Given the description of an element on the screen output the (x, y) to click on. 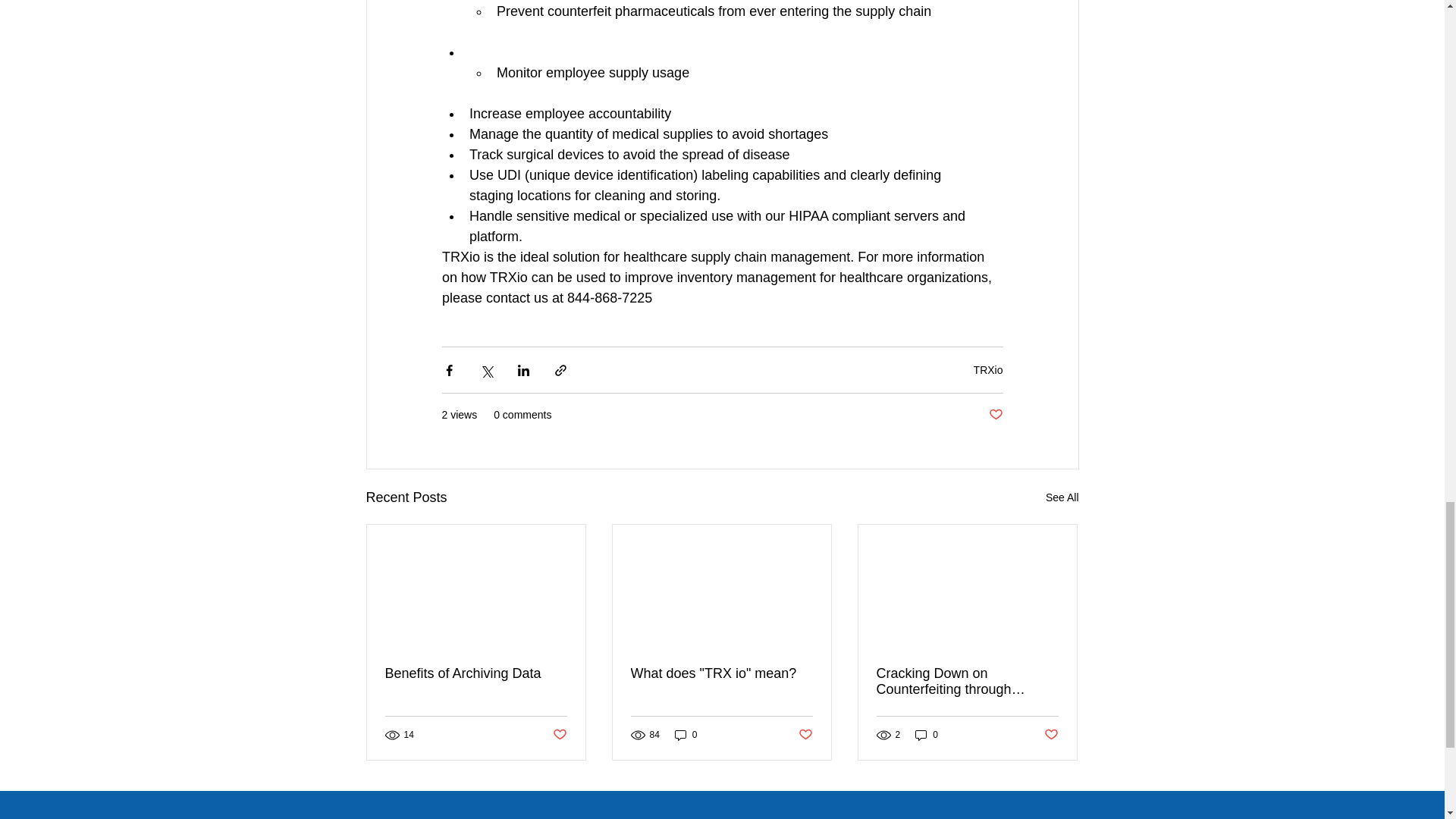
0 (926, 735)
What does "TRX io" mean? (721, 673)
Post not marked as liked (1050, 734)
Post not marked as liked (995, 415)
Post not marked as liked (804, 734)
Benefits of Archiving Data (476, 673)
See All (1061, 497)
Post not marked as liked (558, 734)
Cracking Down on Counterfeiting through Traceability (967, 681)
TRXio (988, 369)
0 (685, 735)
